Given the description of an element on the screen output the (x, y) to click on. 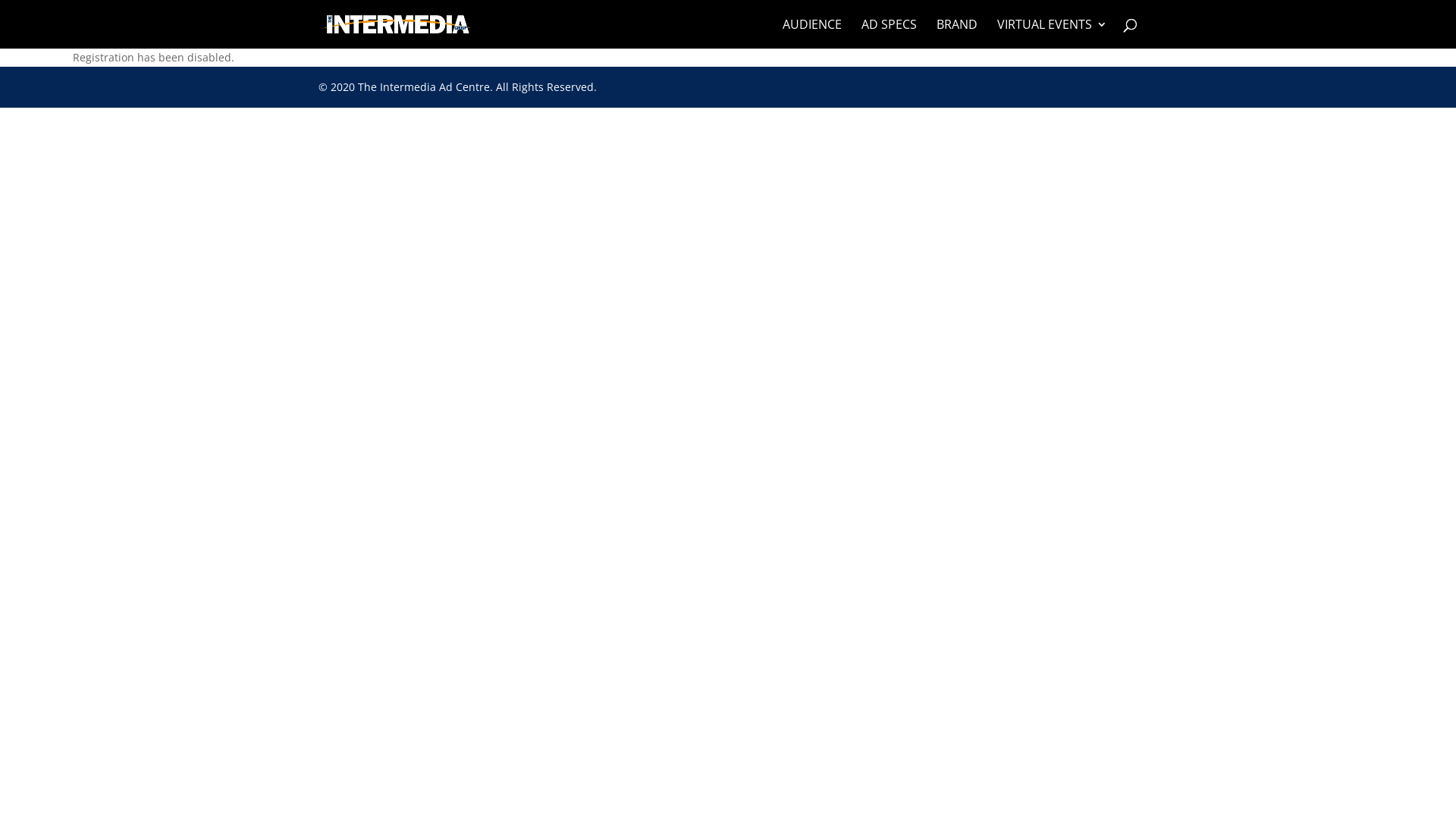
AUDIENCE Element type: text (811, 33)
VIRTUAL EVENTS Element type: text (1052, 33)
BRAND Element type: text (956, 33)
AD SPECS Element type: text (888, 33)
